Given the description of an element on the screen output the (x, y) to click on. 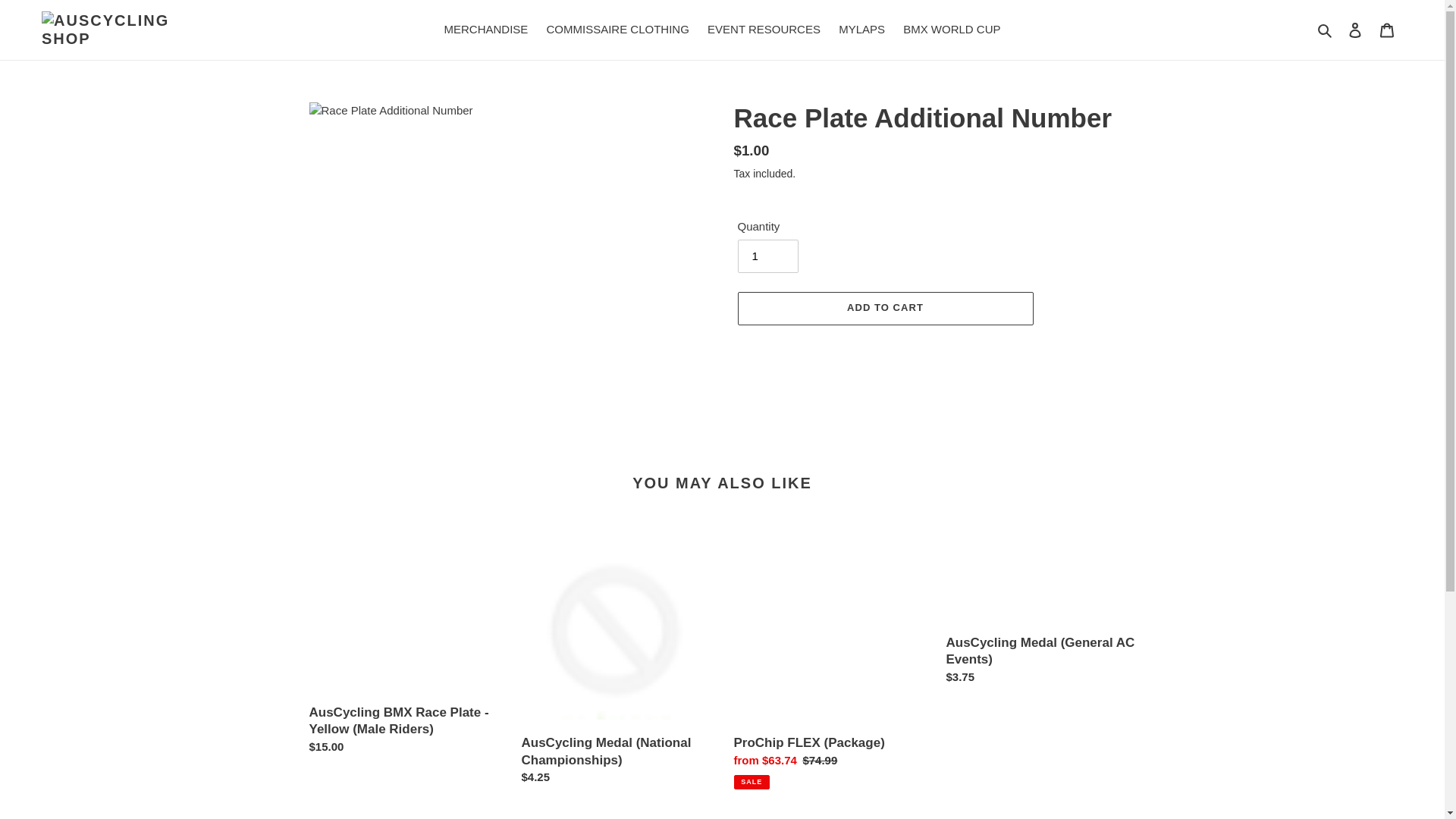
ADD TO CART Element type: text (884, 308)
Log in Element type: text (1355, 29)
AusCycling Medal (General AC Events) Element type: text (1040, 612)
AusCycling Medal (National Championships) Element type: text (616, 662)
COMMISSAIRE CLOTHING Element type: text (617, 29)
EVENT RESOURCES Element type: text (763, 29)
Cart Element type: text (1386, 29)
AusCycling BMX Race Plate - Yellow (Male Riders) Element type: text (403, 647)
Search Element type: text (1325, 29)
MERCHANDISE Element type: text (485, 29)
MYLAPS Element type: text (861, 29)
ProChip FLEX (Package) Element type: text (828, 661)
BMX WORLD CUP Element type: text (951, 29)
